Given the description of an element on the screen output the (x, y) to click on. 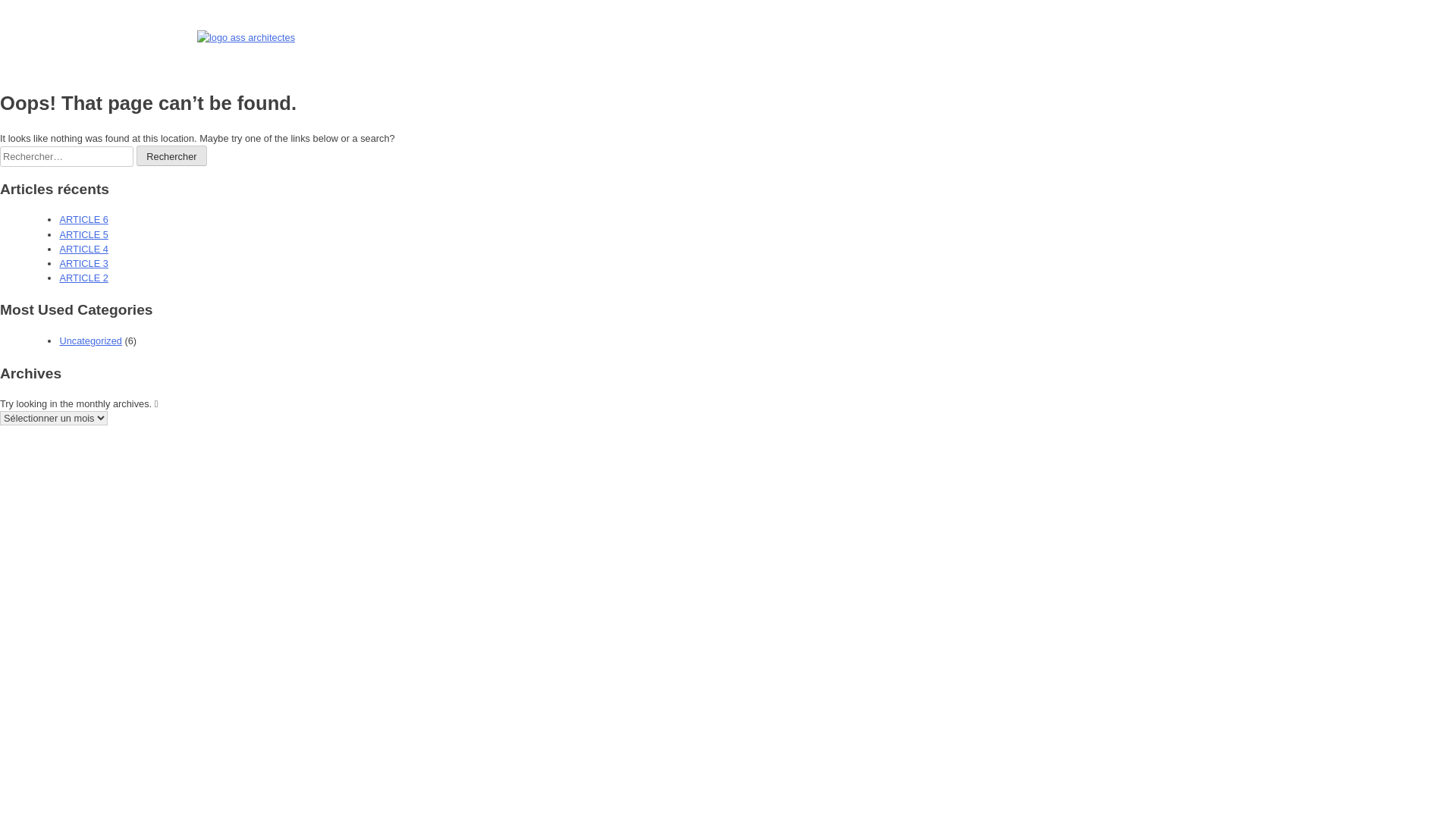
ARTICLE 2 Element type: text (83, 277)
ARTICLE 6 Element type: text (83, 219)
ARTICLE 4 Element type: text (83, 248)
ARTICLE 5 Element type: text (83, 234)
ARTICLE 3 Element type: text (83, 263)
Uncategorized Element type: text (90, 340)
Rechercher Element type: text (171, 155)
